Given the description of an element on the screen output the (x, y) to click on. 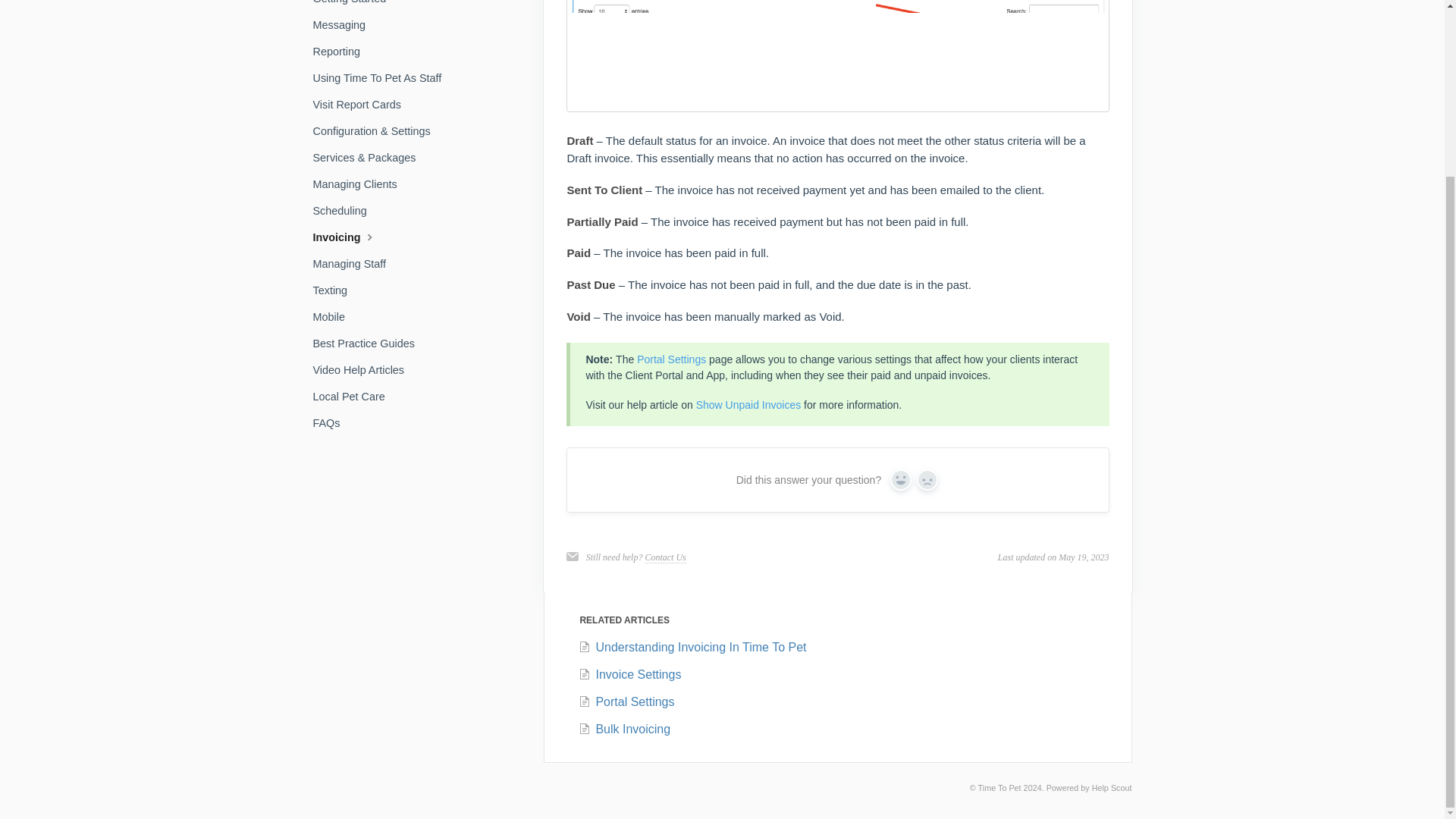
Portal Settings (626, 701)
Video Help Articles (363, 369)
Texting (335, 290)
Scheduling (345, 210)
Managing Clients (360, 183)
Local Pet Care (354, 396)
FAQs (331, 422)
Yes (900, 479)
Bulk Invoicing (623, 728)
Show Unpaid Invoices (748, 404)
Portal Settings (671, 358)
Invoicing (350, 237)
No (927, 479)
Understanding Invoicing In Time To Pet (692, 646)
Managing Staff (355, 263)
